Given the description of an element on the screen output the (x, y) to click on. 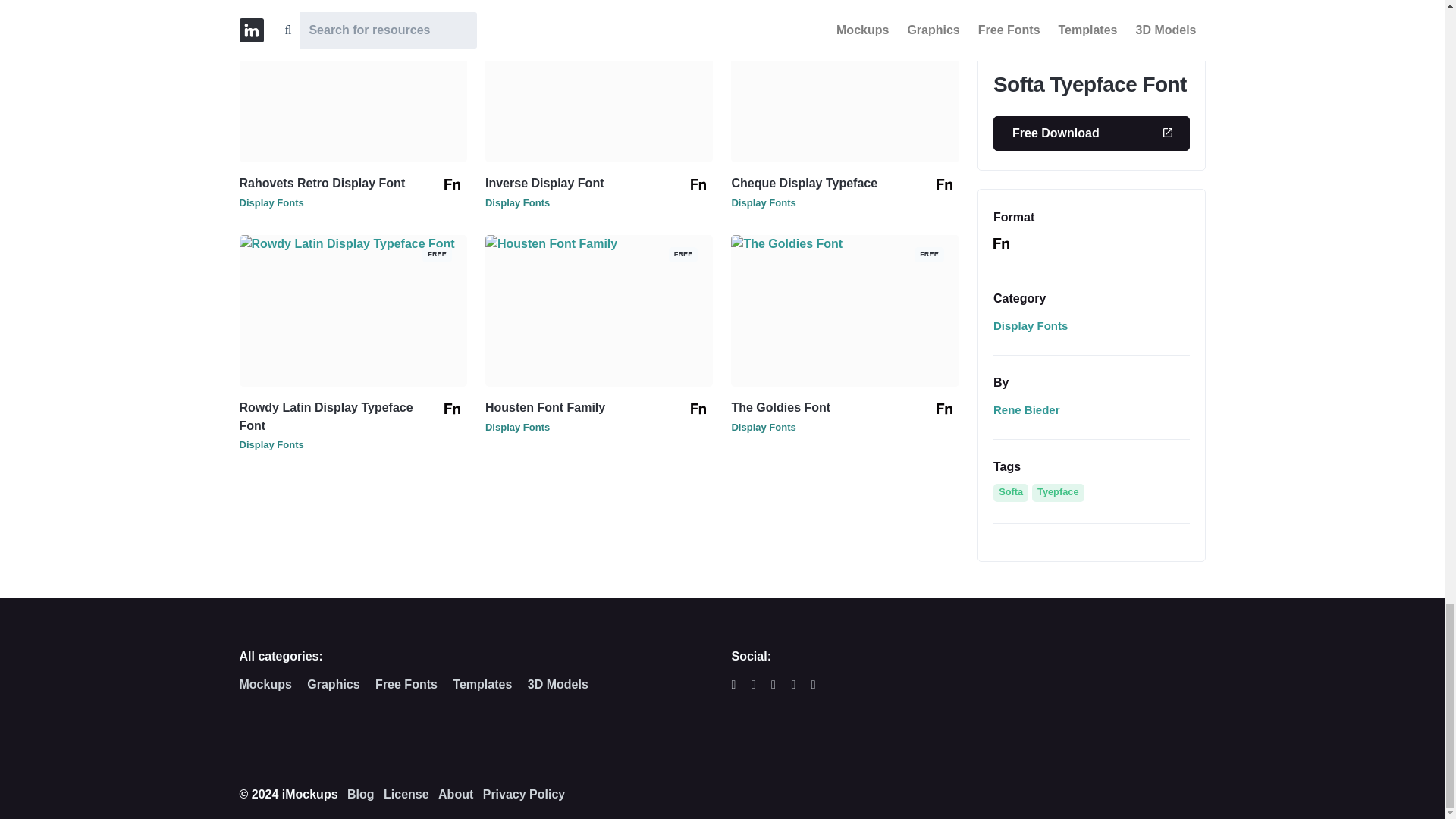
Font (698, 184)
Display Fonts (762, 202)
Display Fonts (517, 202)
FREE (844, 19)
Rahovets Retro Display Font (323, 182)
FREE (598, 19)
Font (698, 408)
Cheque Display Typeface (803, 182)
Font (452, 408)
FREE (353, 244)
